Given the description of an element on the screen output the (x, y) to click on. 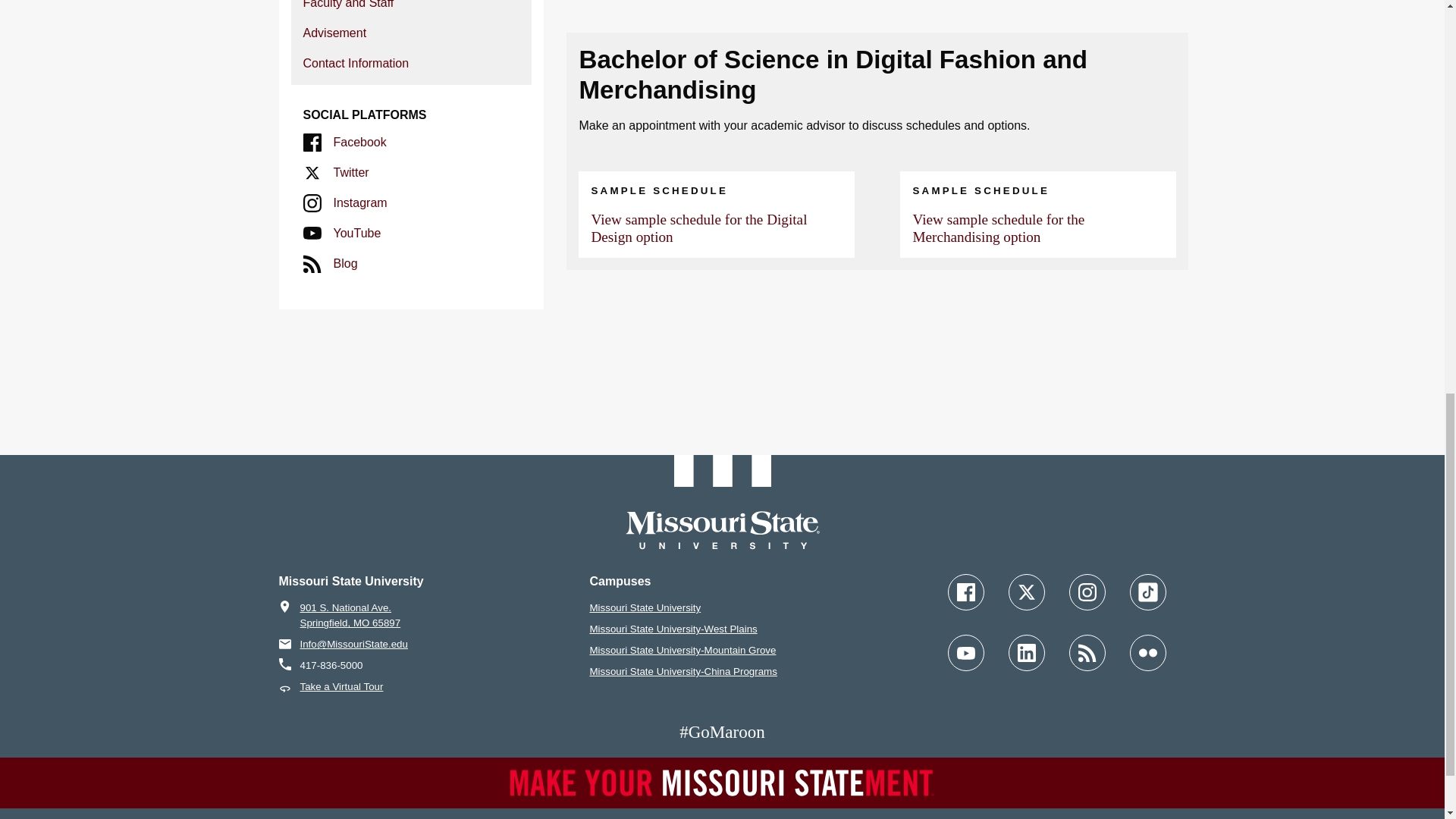
Follow Missouri State on TikTok (1147, 592)
Follow Missouri State on X (1027, 592)
Follow Missouri State on Instagram (1086, 592)
Follow Missouri State on Flickr (1147, 652)
Follow Missouri State Blogs (1086, 652)
Follow Missouri State on YouTube (965, 652)
Follow Missouri State on Facebook (965, 592)
Follow Missouri State on LinkedIn (1027, 652)
